Given the description of an element on the screen output the (x, y) to click on. 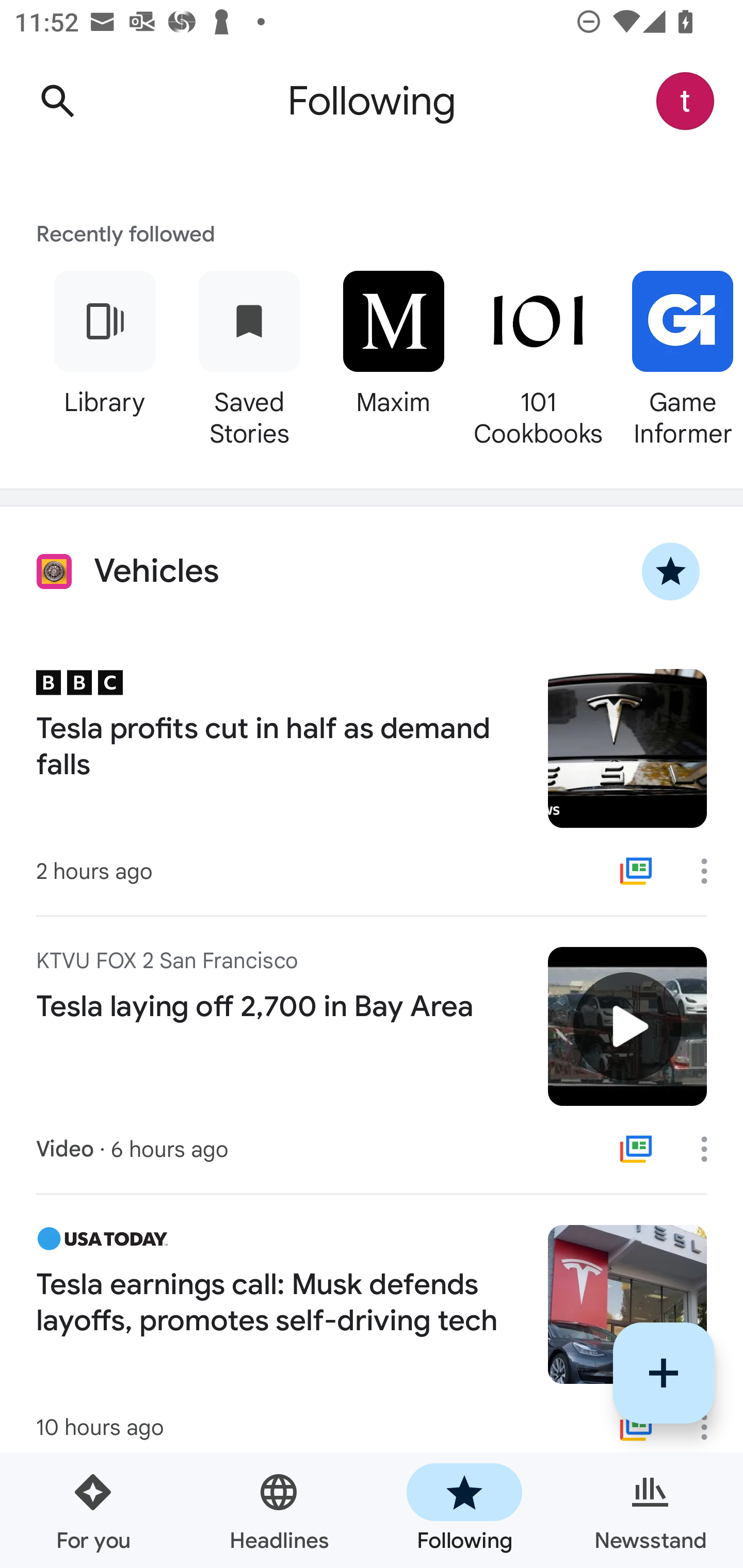
Search (57, 100)
Library (104, 355)
Saved Stories (248, 355)
Maxim (393, 355)
101 Cookbooks (537, 355)
Game Informer (676, 355)
Vehicles Vehicles Unfollow (371, 571)
Unfollow (670, 571)
More options (711, 870)
Play (627, 1026)
More options (711, 1149)
Follow (663, 1372)
For you (92, 1509)
Headlines (278, 1509)
Following (464, 1509)
Newsstand (650, 1509)
